Given the description of an element on the screen output the (x, y) to click on. 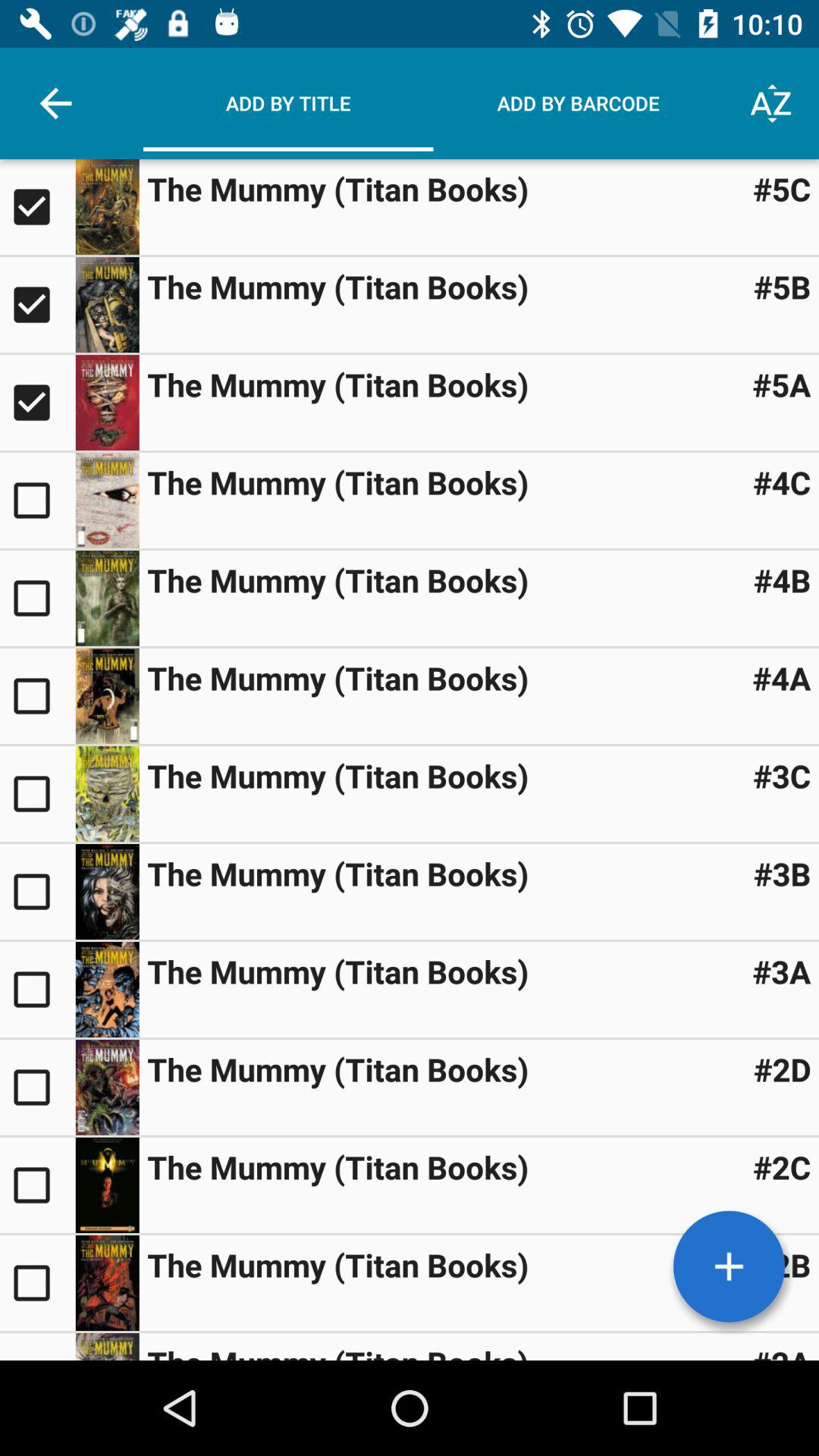
click to select this title (37, 1185)
